Given the description of an element on the screen output the (x, y) to click on. 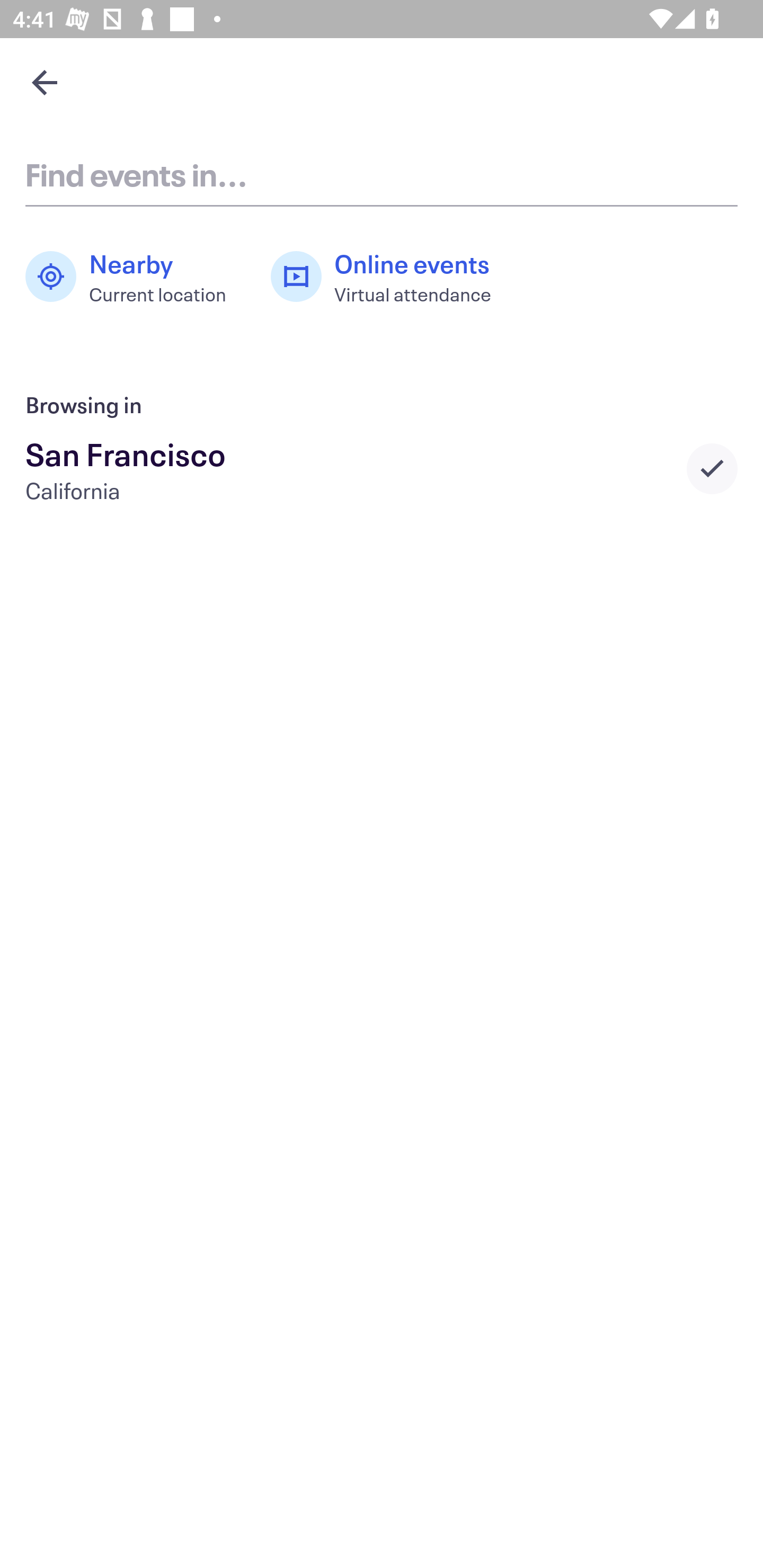
Navigate up (44, 82)
Find events in... (381, 173)
Nearby Current location (135, 276)
Online events Virtual attendance (390, 276)
San Francisco California Selected city (381, 468)
